Given the description of an element on the screen output the (x, y) to click on. 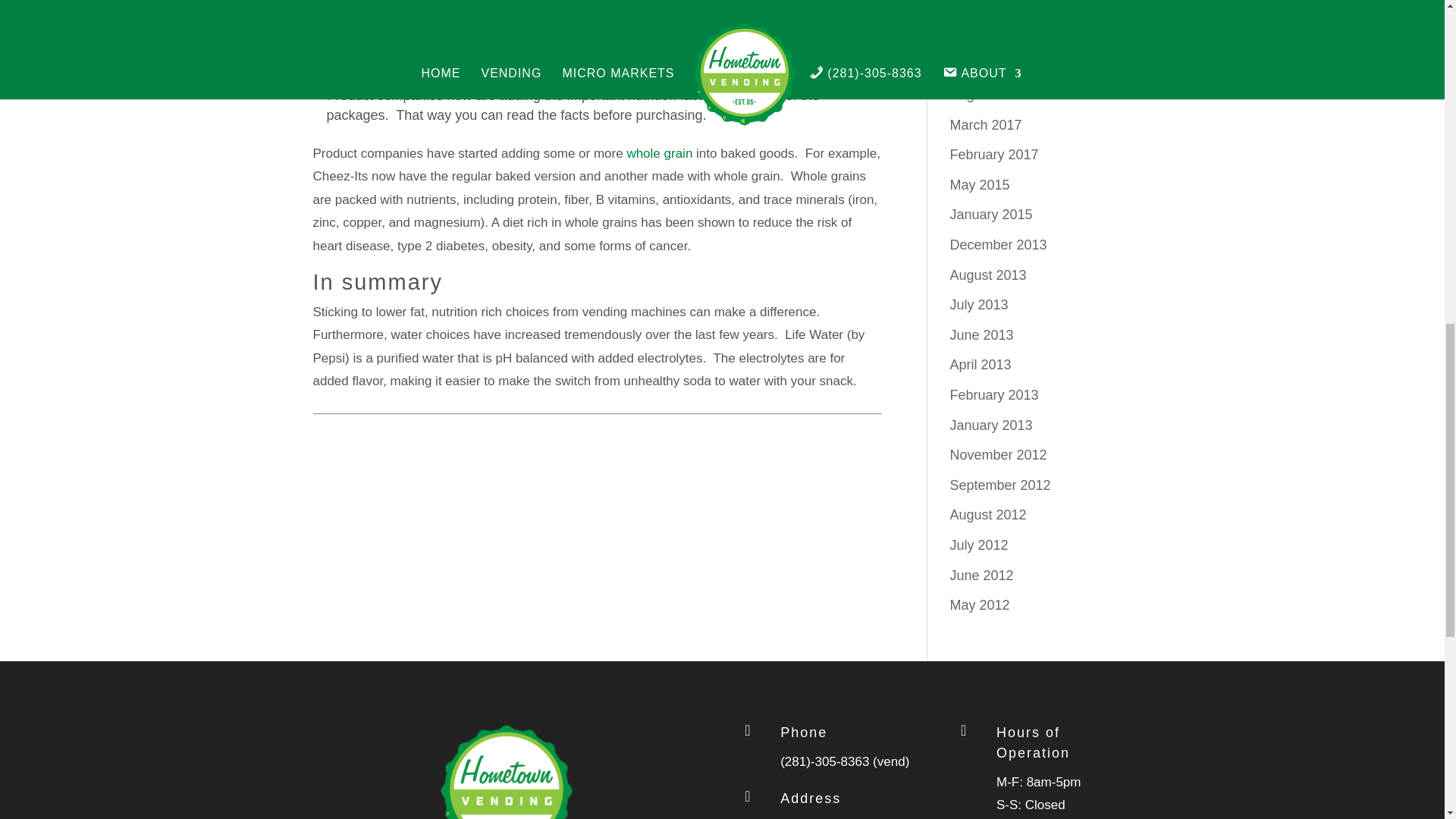
apple-icon-180x180 (506, 770)
whole grain (659, 153)
February 2017 (993, 154)
July 2018 (978, 64)
July 2021 (978, 34)
August 2017 (987, 94)
March 2017 (985, 124)
